Given the description of an element on the screen output the (x, y) to click on. 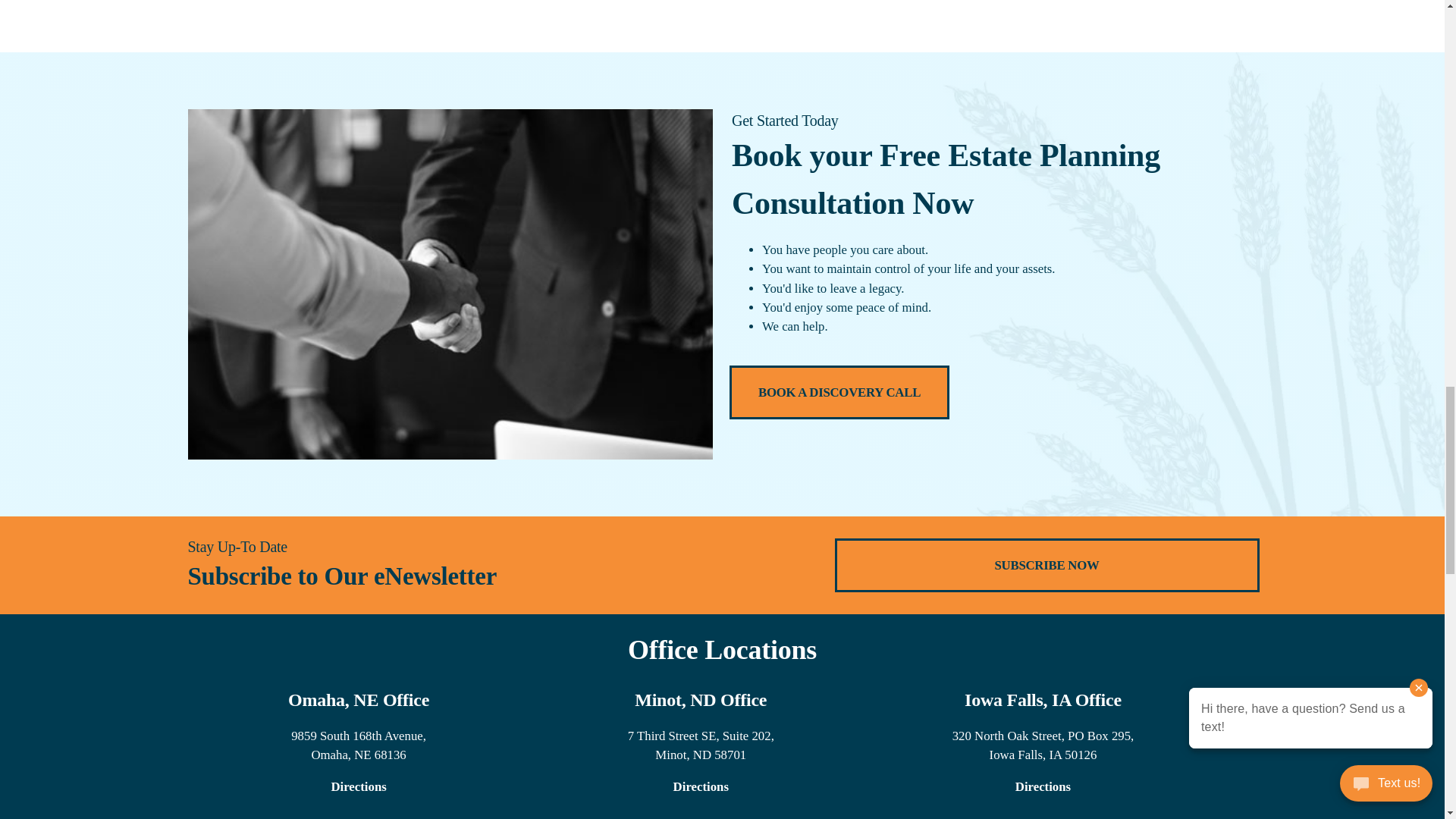
Book A Discovery Call With Legacy Design Strategies (839, 391)
Subscribe To Our E-Newsletter (1047, 564)
